Given the description of an element on the screen output the (x, y) to click on. 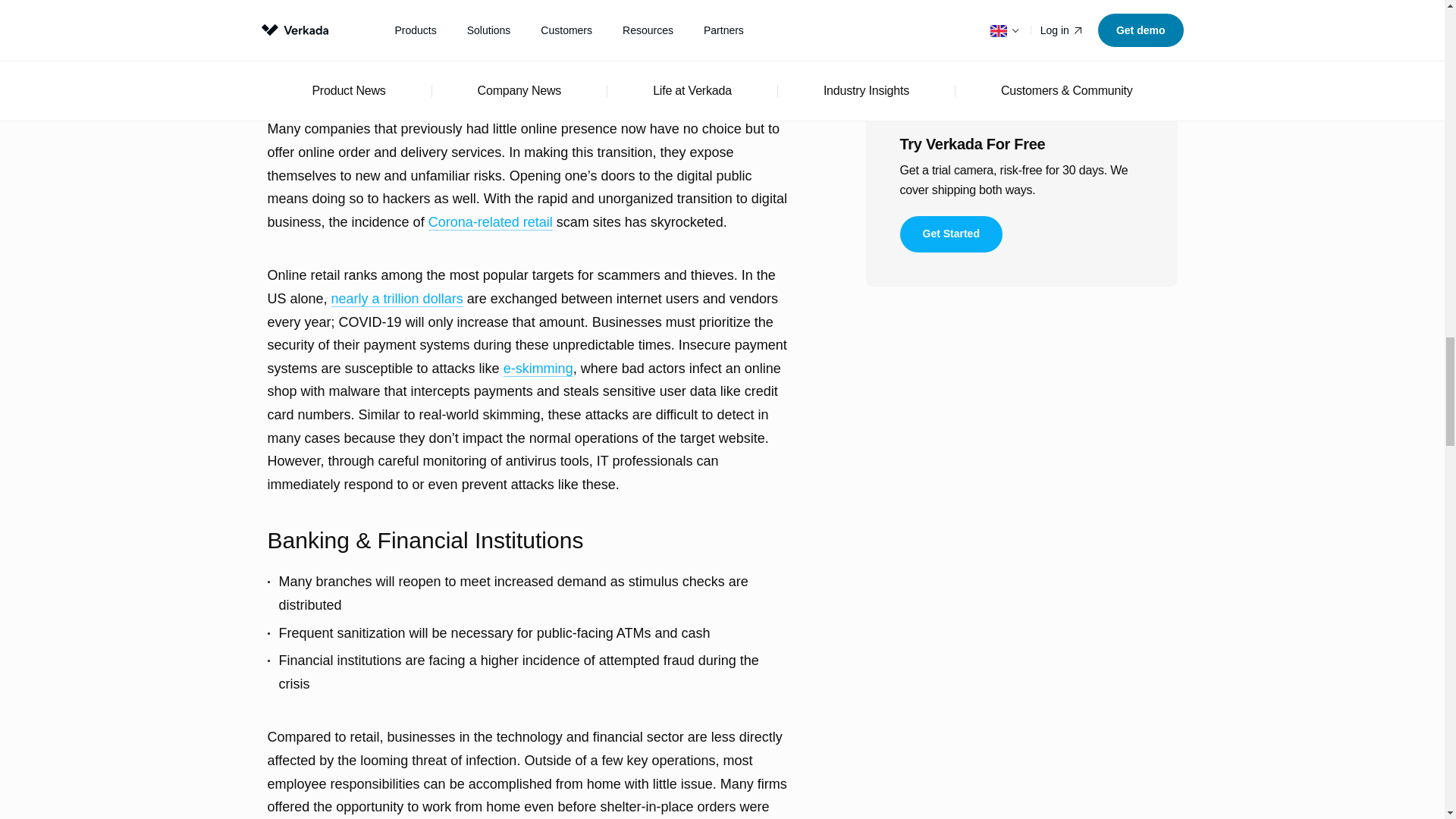
Corona-related retail (490, 222)
e-skimming (538, 368)
nearly a trillion dollars (397, 299)
